Given the description of an element on the screen output the (x, y) to click on. 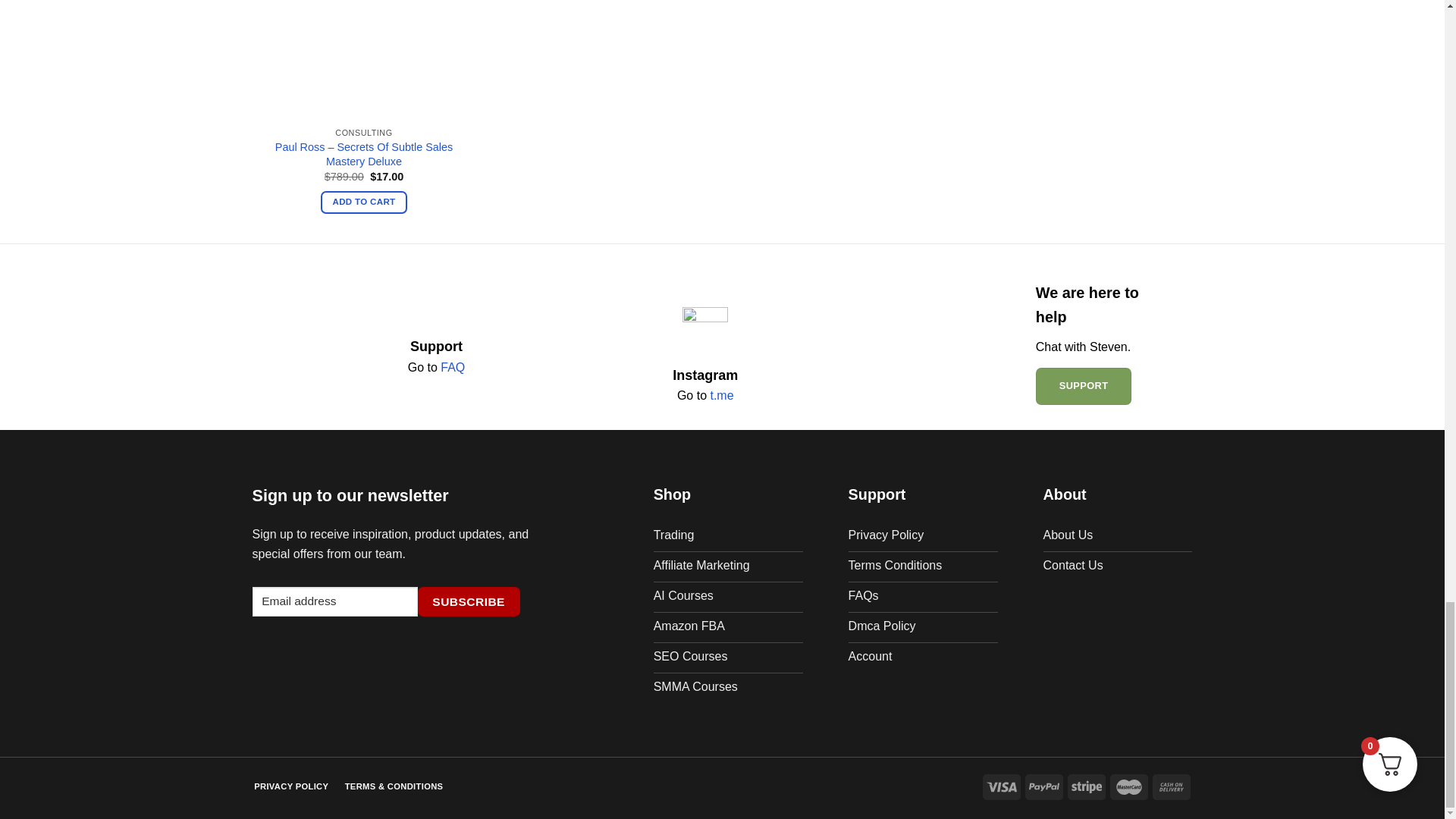
Email address (333, 601)
